Given the description of an element on the screen output the (x, y) to click on. 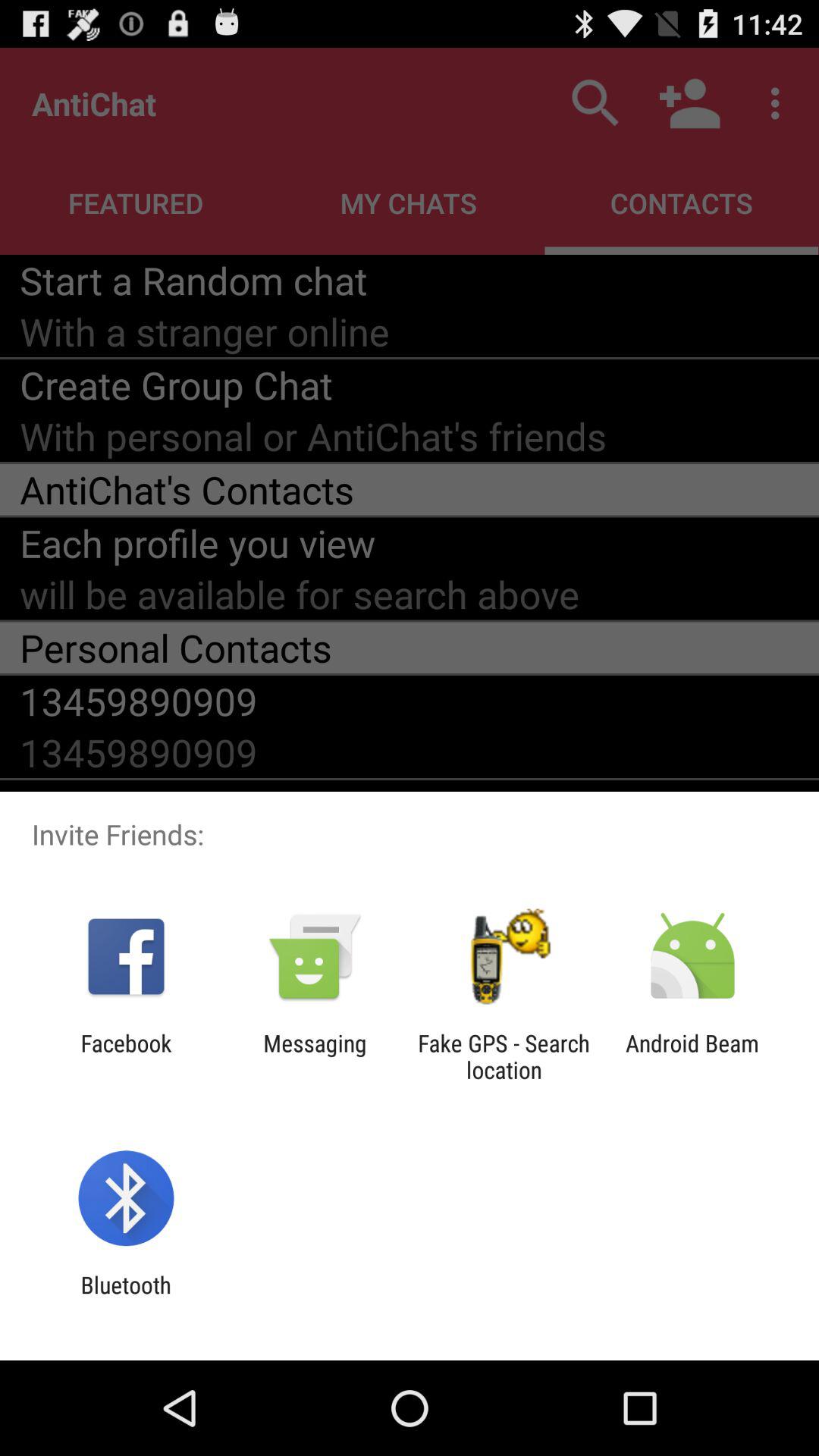
tap the app next to the fake gps search app (314, 1056)
